Given the description of an element on the screen output the (x, y) to click on. 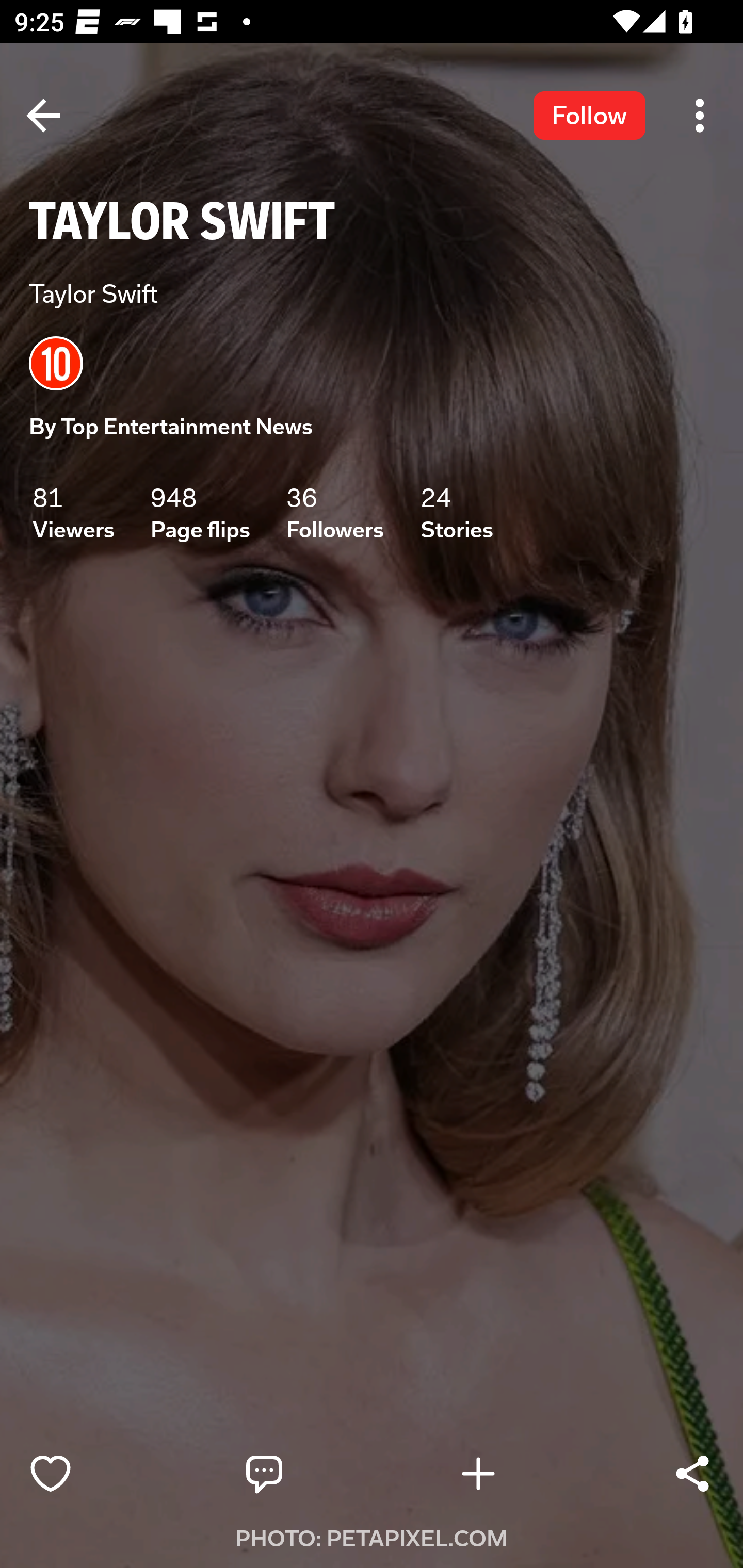
Back (43, 115)
More (699, 115)
Follow (589, 114)
By Top Entertainment News (170, 427)
81 Viewers (73, 512)
948 Page flips (200, 512)
36 Followers (335, 512)
24 Stories (456, 512)
Like (93, 1473)
Write a comment… (307, 1473)
Flip into Magazine (521, 1473)
Share (692, 1473)
PHOTO: PETAPIXEL.COM (371, 1538)
